Given the description of an element on the screen output the (x, y) to click on. 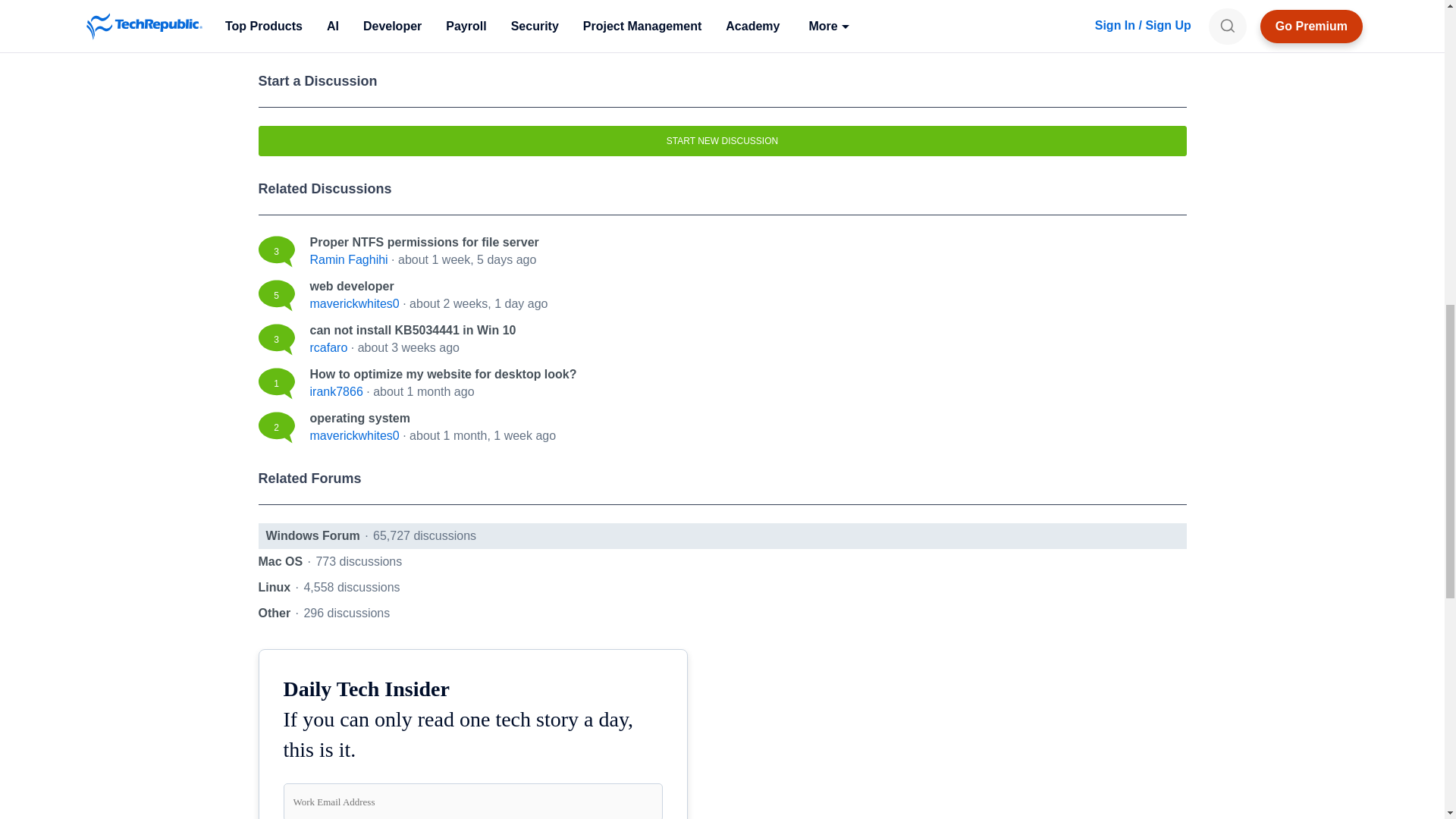
View irank7866's profile (335, 391)
View rcafaro's profile (327, 347)
View Ramin Faghihi's profile (347, 259)
View maverickwhites0's profile (353, 435)
View maverickwhites0's profile (353, 303)
